Given the description of an element on the screen output the (x, y) to click on. 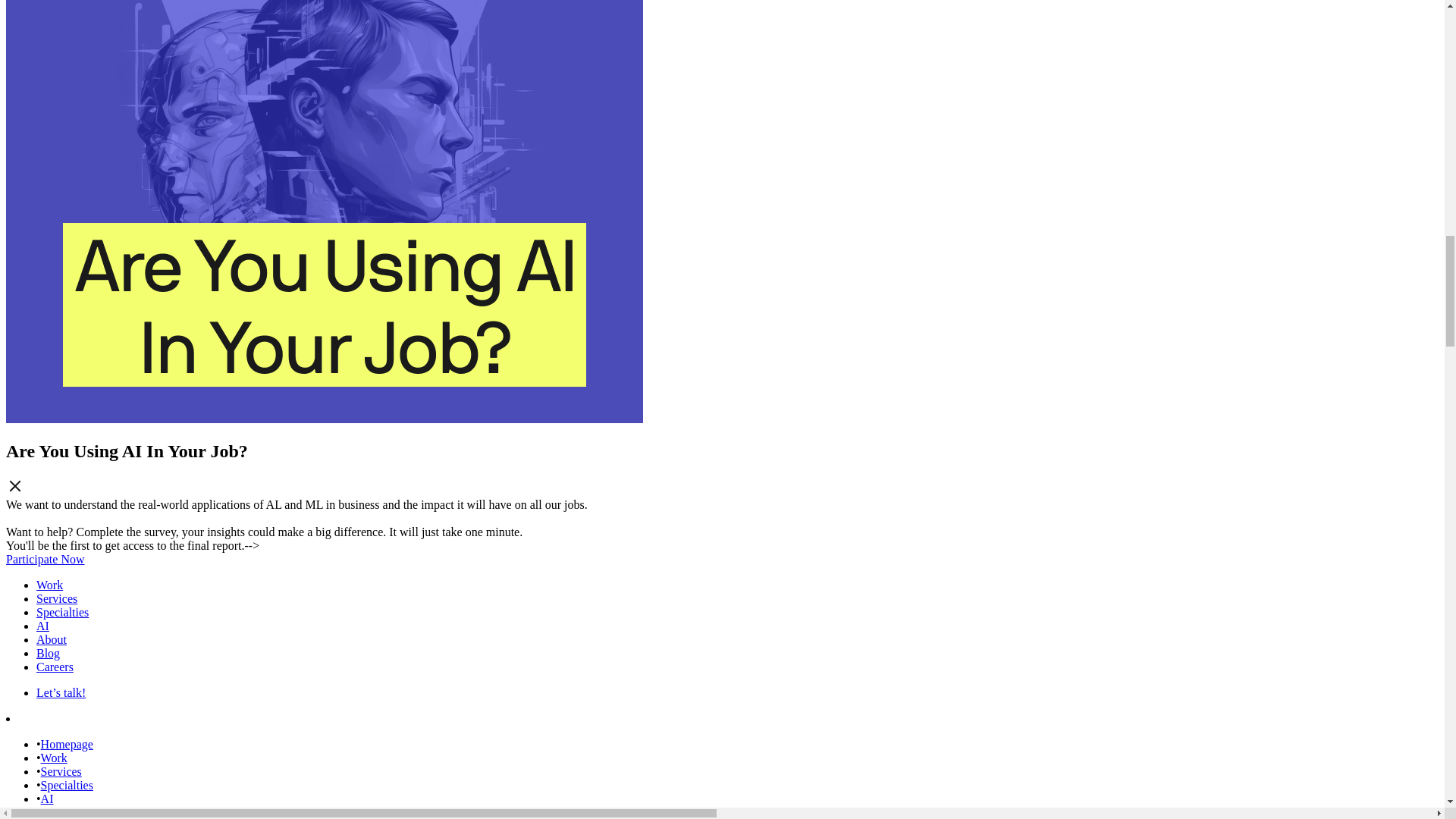
Work (53, 757)
Blog (47, 653)
Work (49, 584)
Services (60, 771)
Careers (55, 666)
Services (56, 598)
About (51, 639)
AI (42, 625)
Participate Now (44, 558)
Specialties (66, 784)
AI (46, 798)
About (55, 812)
Homepage (66, 744)
Specialties (62, 612)
